Given the description of an element on the screen output the (x, y) to click on. 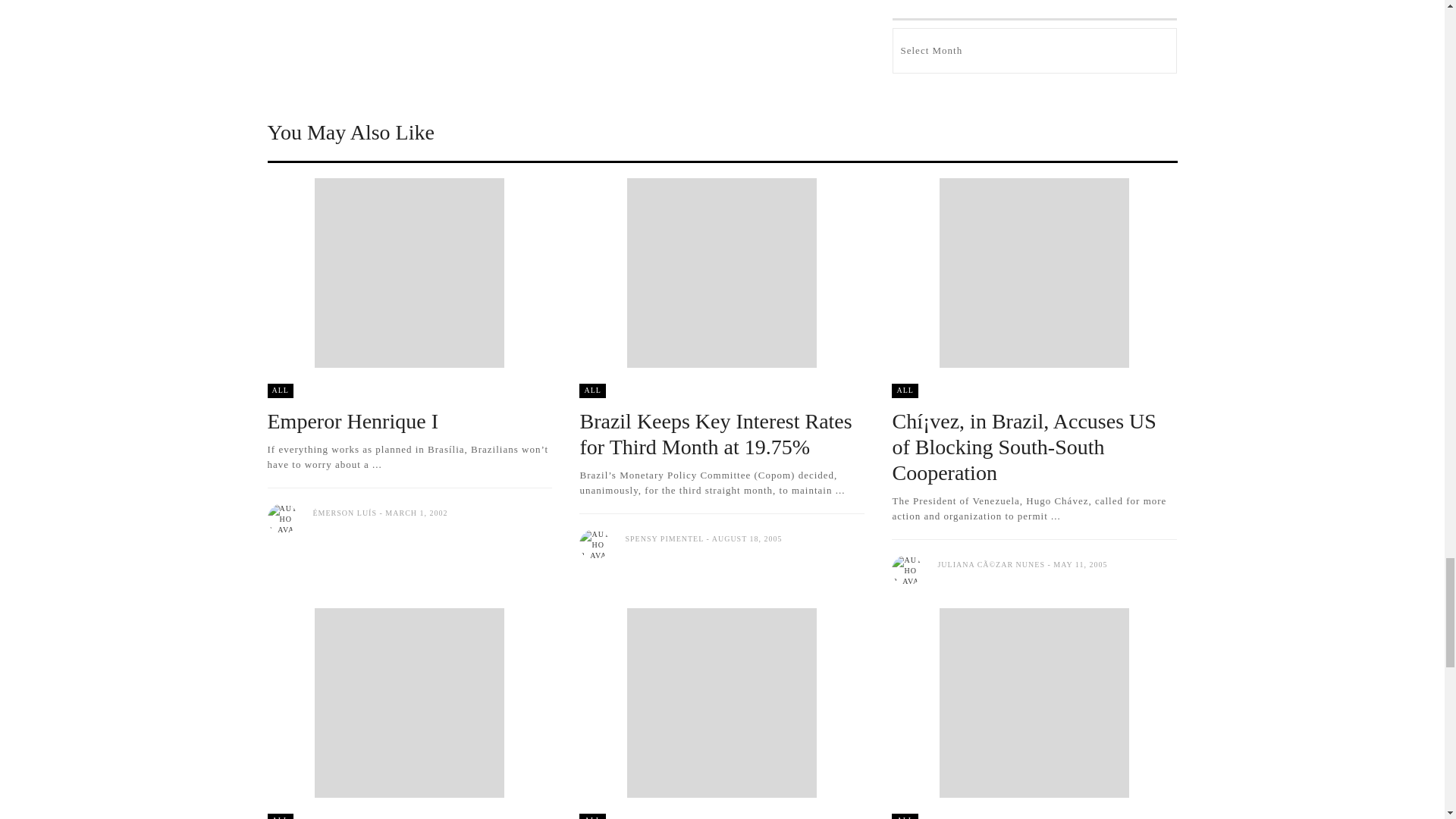
View all posts in 1 (592, 391)
View all posts in 1 (279, 816)
View all posts in 1 (904, 391)
View all posts in 1 (904, 816)
View all posts in 1 (592, 816)
View all posts in 1 (279, 391)
